Given the description of an element on the screen output the (x, y) to click on. 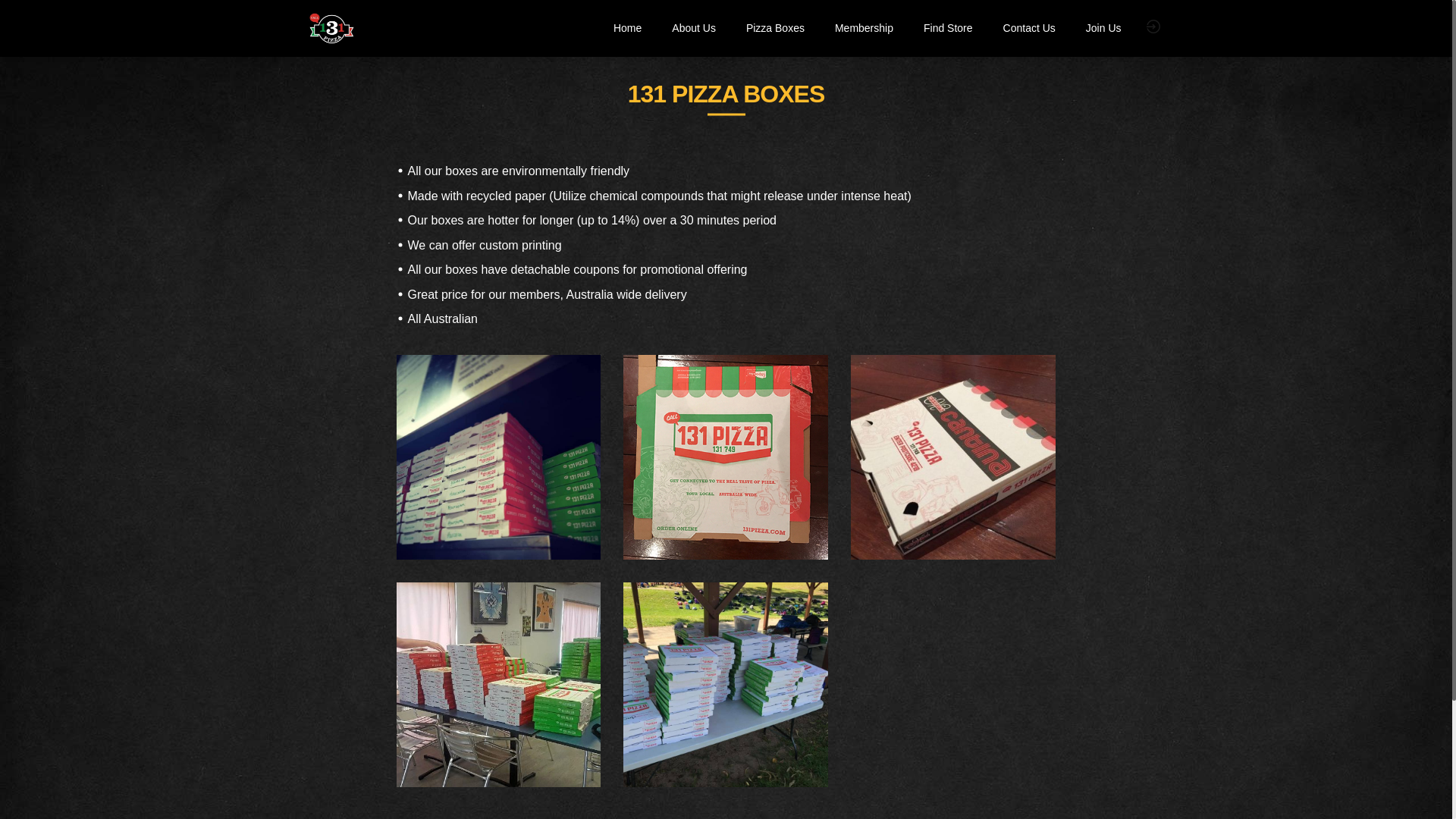
Home Element type: text (627, 28)
Contact Us Element type: text (1029, 28)
Pizza Boxes Element type: text (775, 28)
Pinapple Element type: hover (725, 684)
About Us Element type: text (693, 28)
Find Store Element type: text (948, 28)
Pinapple Element type: hover (497, 684)
Join Us Element type: text (1103, 28)
Pinapple Element type: hover (725, 456)
Pinapple Element type: hover (497, 456)
Membership Element type: text (863, 28)
Pinapple Element type: hover (952, 456)
